Given the description of an element on the screen output the (x, y) to click on. 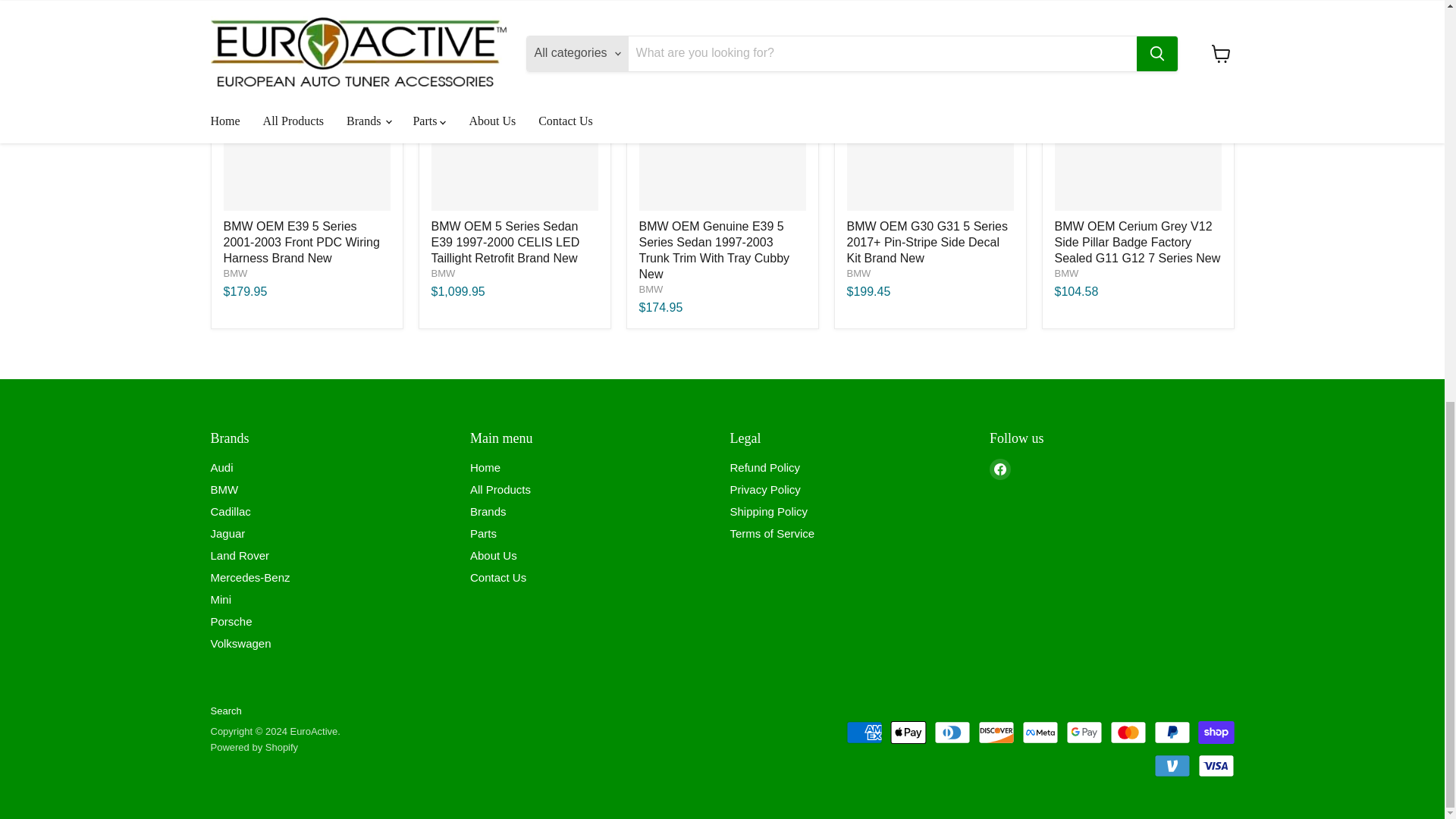
BMW (234, 273)
Facebook (1000, 468)
BMW (1066, 273)
BMW (857, 273)
Discover (996, 732)
Mastercard (1128, 732)
Meta Pay (1040, 732)
Google Pay (1083, 732)
American Express (863, 732)
BMW (650, 288)
Apple Pay (907, 732)
Diners Club (952, 732)
BMW (442, 273)
